Given the description of an element on the screen output the (x, y) to click on. 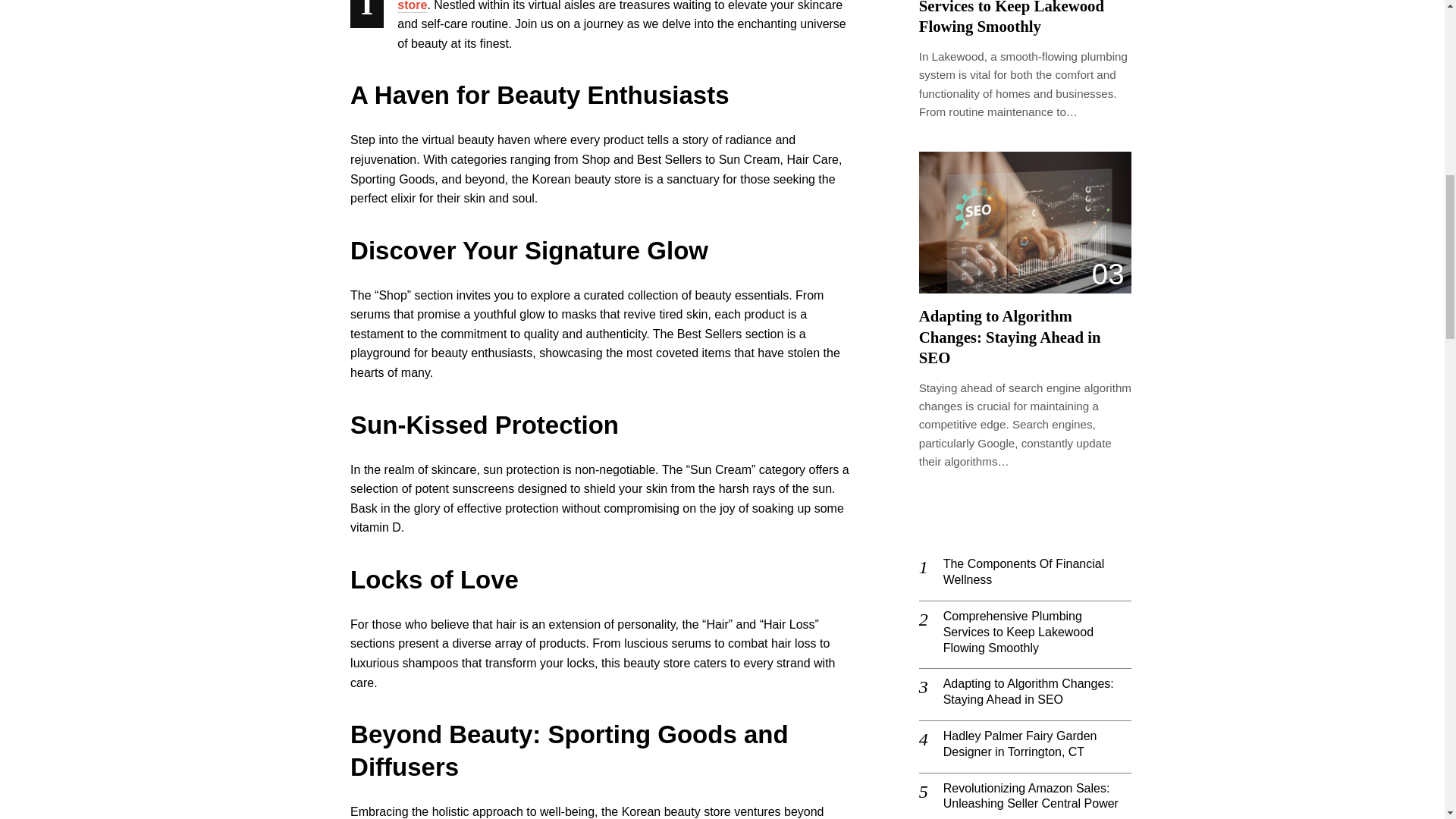
03 (1025, 222)
beauty store (609, 5)
